Given the description of an element on the screen output the (x, y) to click on. 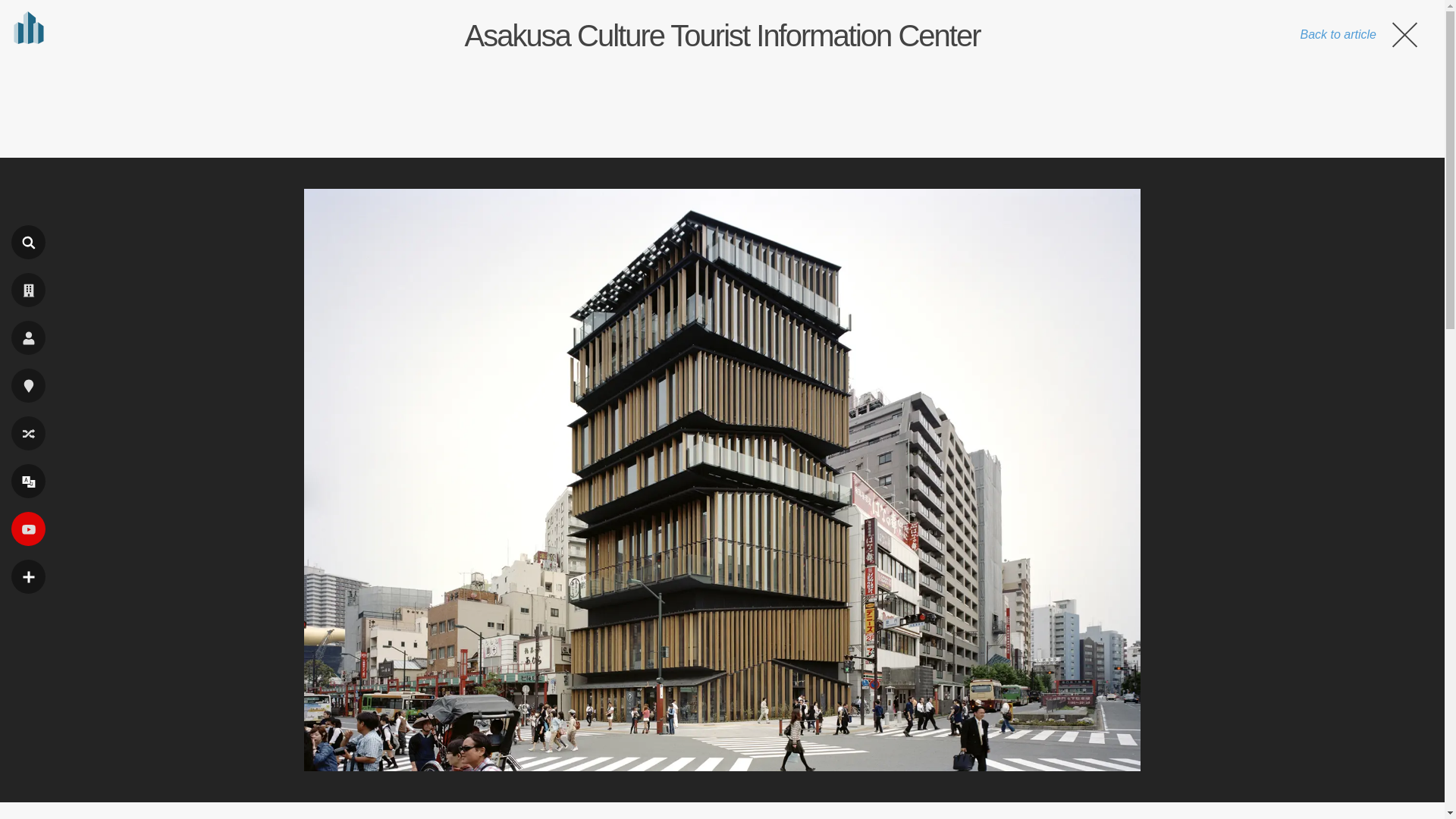
Back to article (1361, 34)
Asakusa Culture Tourist Information Center (721, 35)
Advertisement (721, 105)
